Given the description of an element on the screen output the (x, y) to click on. 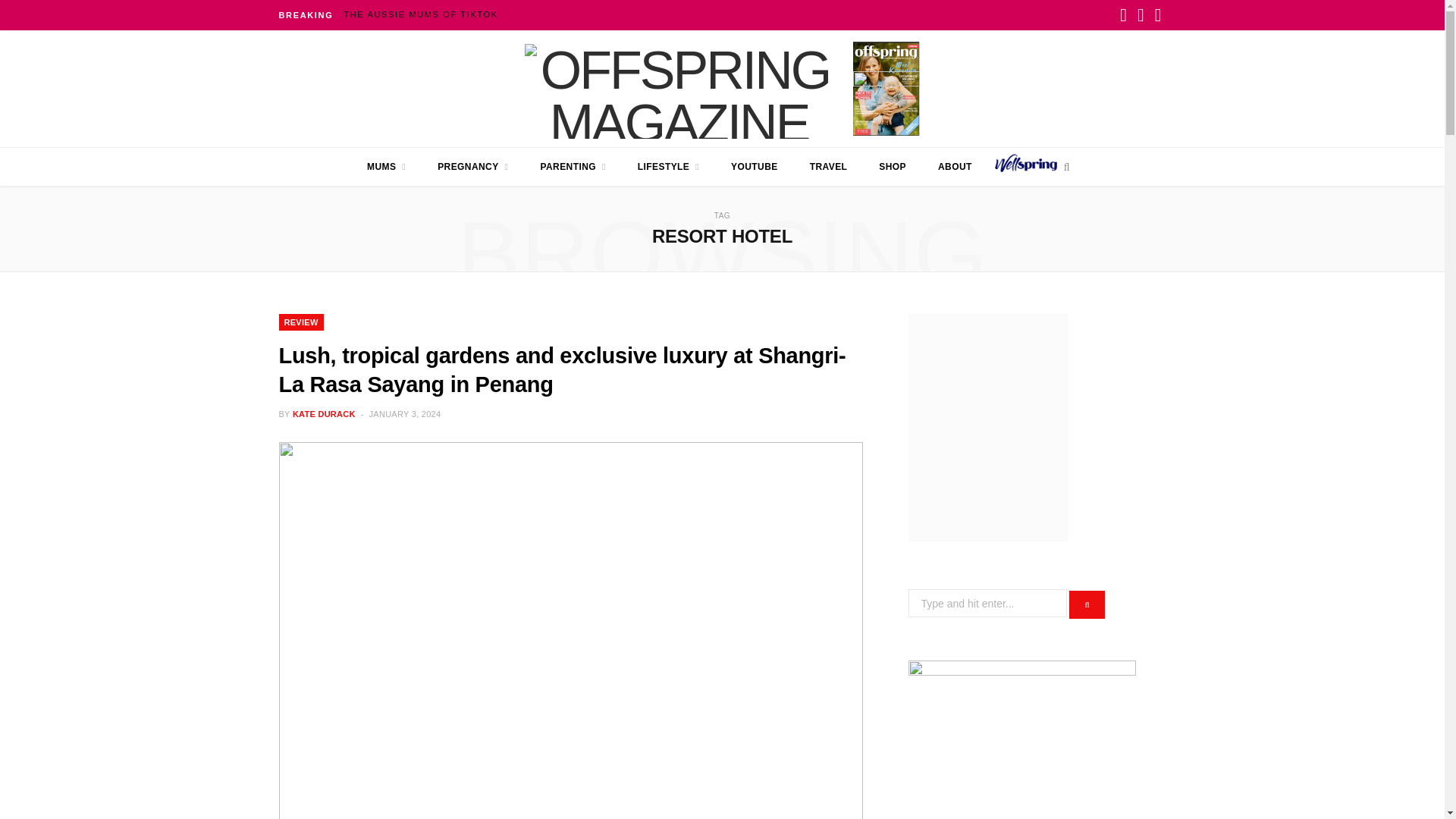
PREGNANCY (473, 166)
LIFESTYLE (667, 166)
Offspring Magazine (679, 88)
THE AUSSIE MUMS OF TIKTOK (424, 14)
PARENTING (572, 166)
SHOP (892, 166)
Posts by Kate Durack (323, 413)
YOUTUBE (753, 166)
MUMS (386, 166)
